Given the description of an element on the screen output the (x, y) to click on. 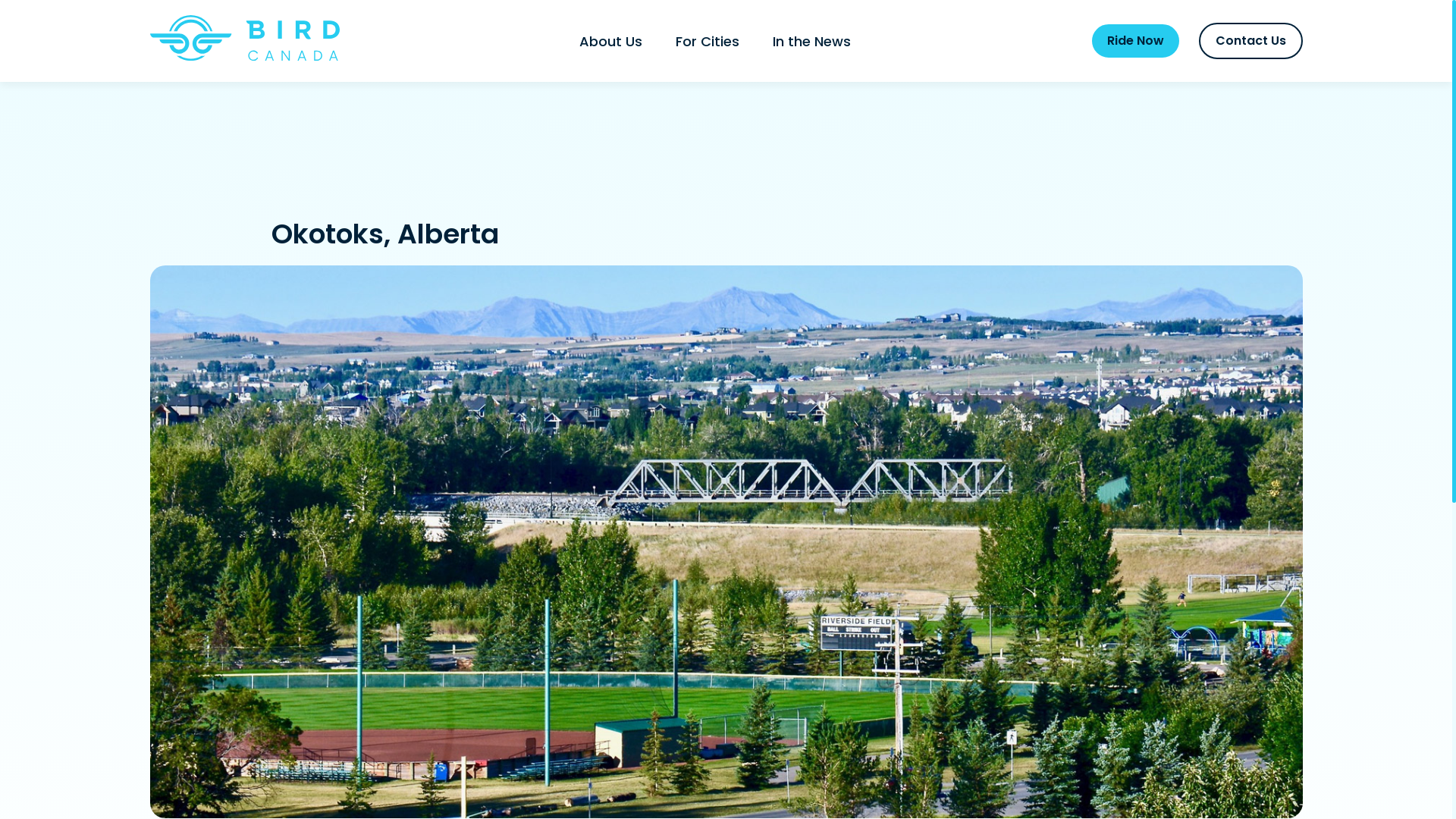
For Cities Element type: text (706, 40)
In the News Element type: text (810, 40)
About Us Element type: text (610, 40)
Bird Canada Home Page Element type: hover (244, 56)
Ride Now Element type: text (1135, 40)
Contact Us Element type: text (1249, 40)
